Given the description of an element on the screen output the (x, y) to click on. 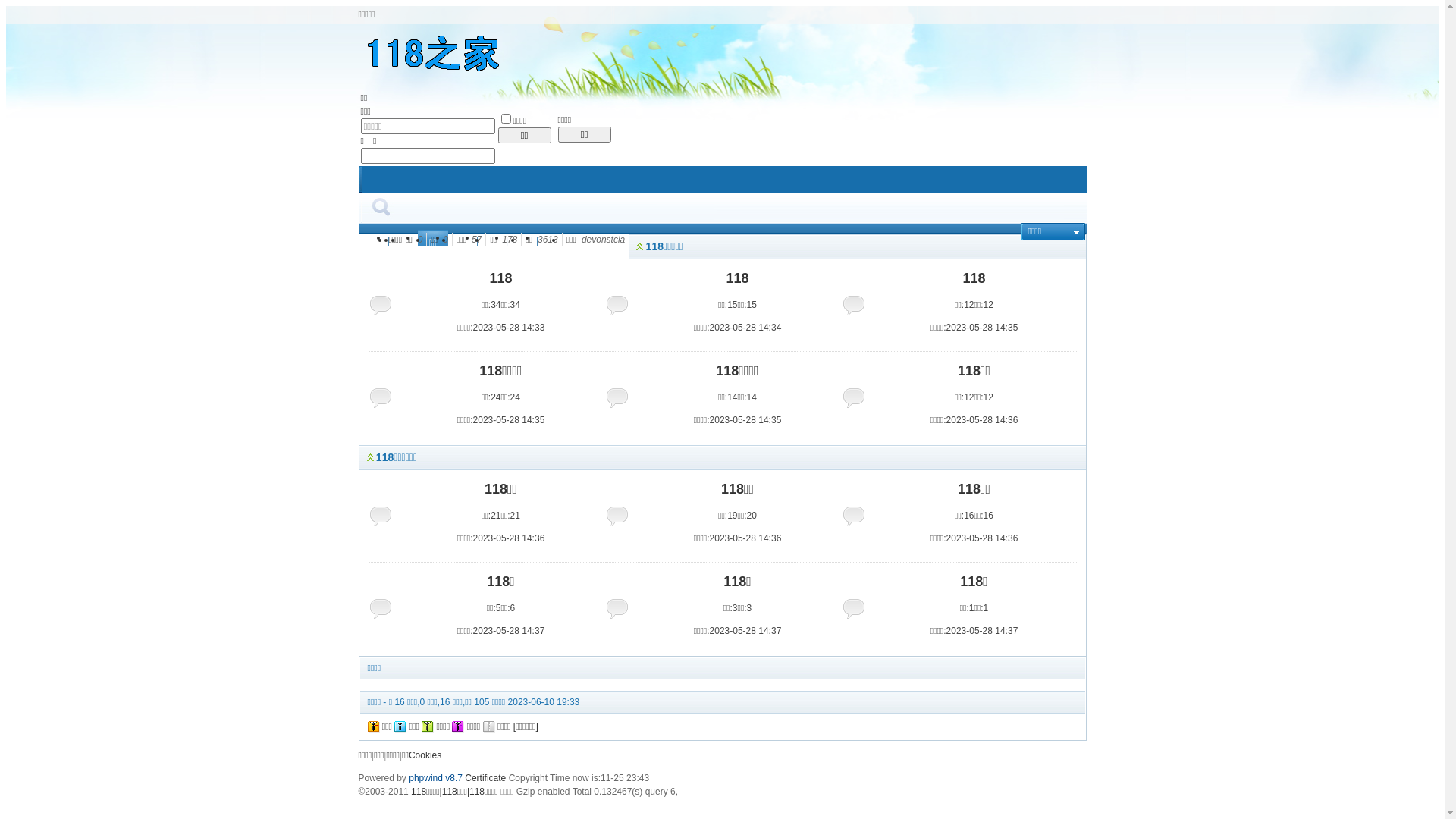
phpwind v8.7 Element type: text (435, 777)
118 Element type: text (973, 277)
118 Element type: text (736, 277)
118 Element type: text (500, 277)
Certificate Element type: text (484, 777)
0 Element type: text (420, 239)
3613 Element type: text (547, 239)
devonstcla Element type: text (602, 239)
